Given the description of an element on the screen output the (x, y) to click on. 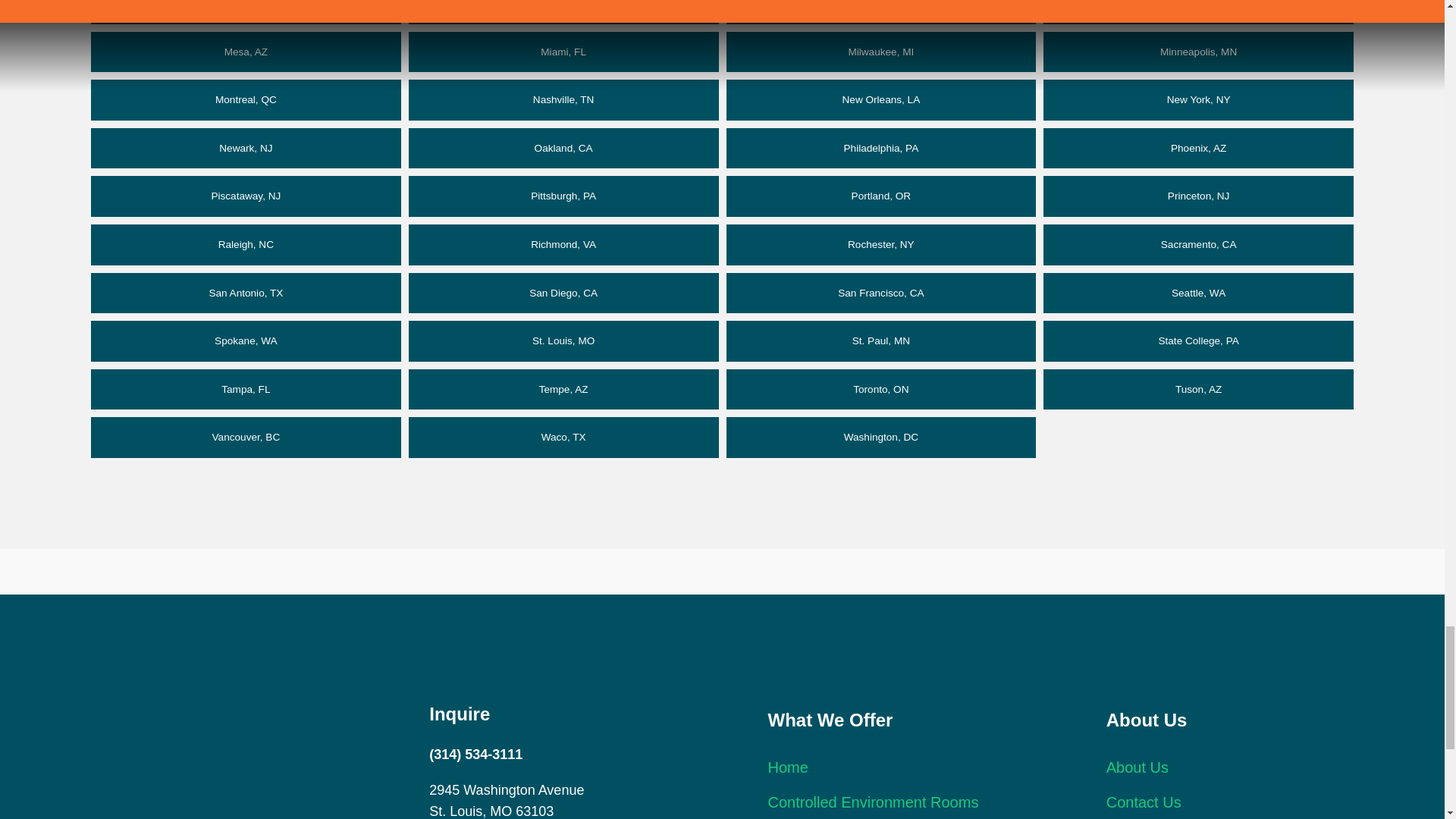
Controlled Environment Rooms (872, 801)
About Us (1137, 767)
Contact Us (1143, 801)
Home (787, 767)
